Given the description of an element on the screen output the (x, y) to click on. 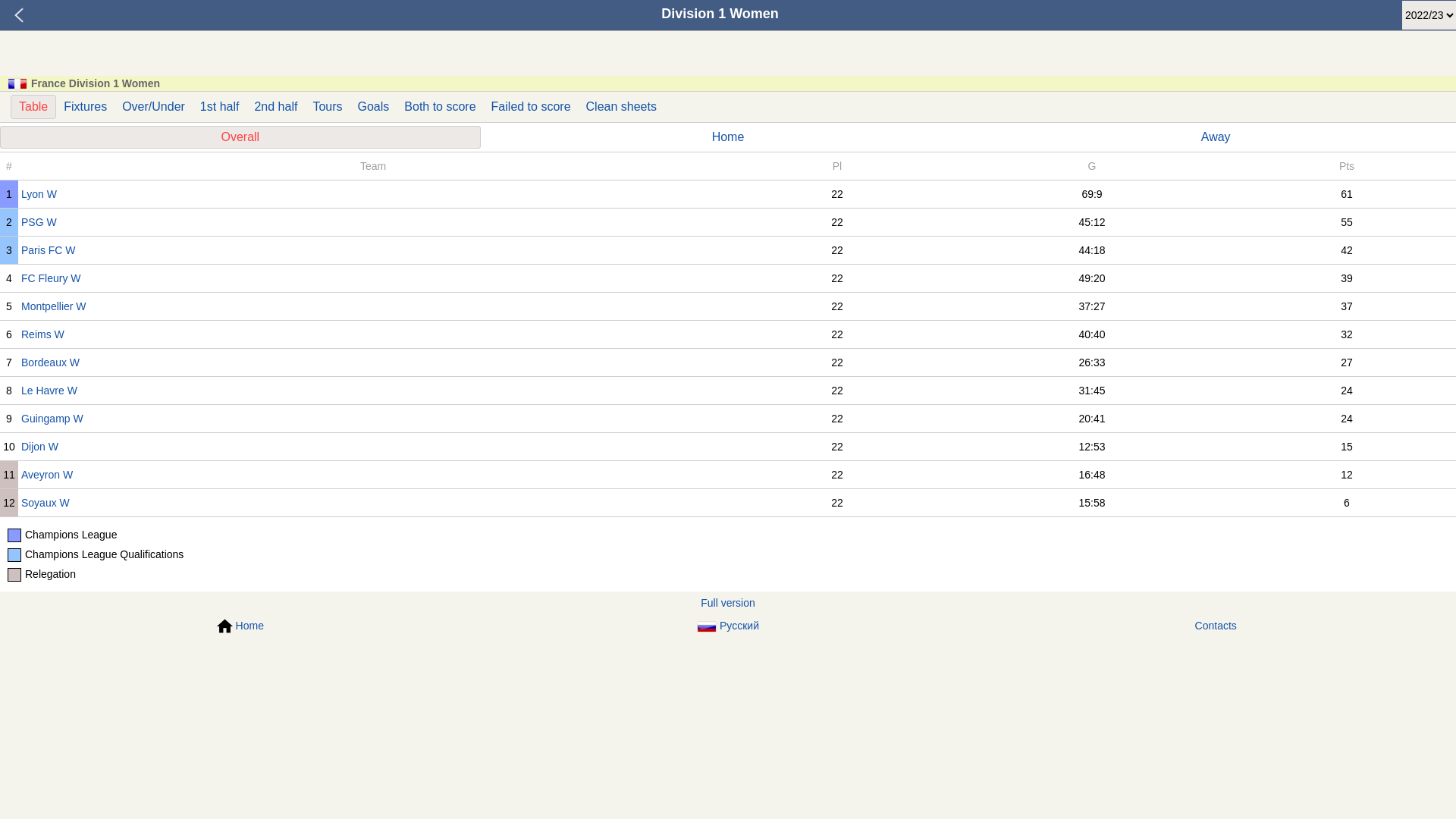
PSG W Element type: text (374, 222)
Reims W Element type: text (374, 334)
Paris FC W Element type: text (374, 250)
Clean sheets Element type: text (621, 106)
Dijon W Element type: text (374, 446)
Table Element type: text (33, 106)
Soyaux W Element type: text (374, 502)
Home Element type: text (727, 136)
Failed to score Element type: text (530, 106)
1st half Element type: text (219, 106)
Le Havre W Element type: text (374, 390)
Bordeaux W Element type: text (374, 362)
Guingamp W Element type: text (374, 418)
Goals Element type: text (373, 106)
Home Element type: text (240, 625)
Fixtures Element type: text (85, 106)
FC Fleury W Element type: text (374, 278)
Montpellier W Element type: text (374, 306)
Aveyron W Element type: text (374, 474)
Lyon W Element type: text (374, 194)
Overall Element type: text (240, 136)
Over/Under Element type: text (153, 106)
Tours Element type: text (326, 106)
2nd half Element type: text (275, 106)
Both to score Element type: text (439, 106)
